Given the description of an element on the screen output the (x, y) to click on. 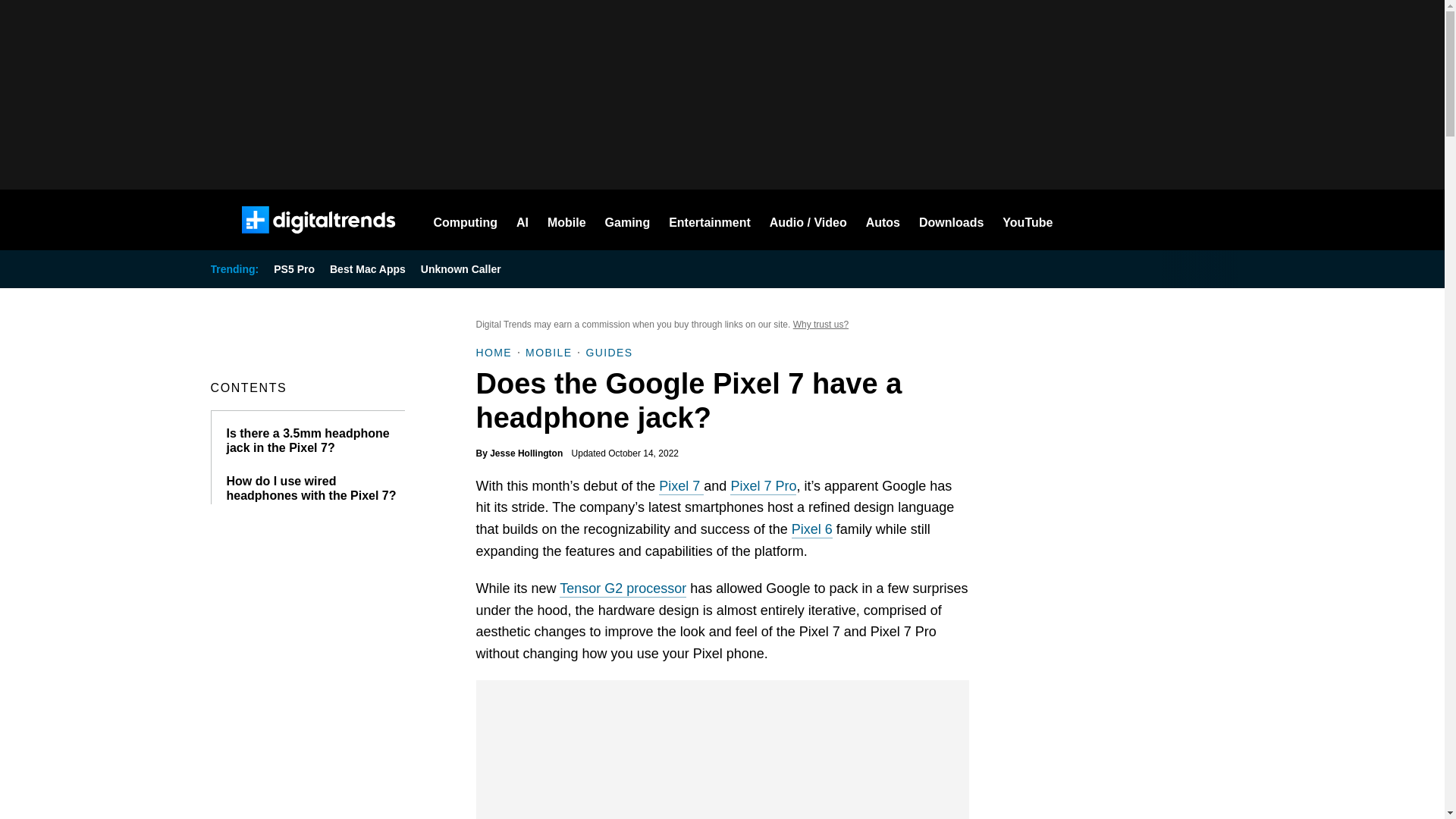
Entertainment (709, 219)
Downloads (951, 219)
Computing (465, 219)
